Given the description of an element on the screen output the (x, y) to click on. 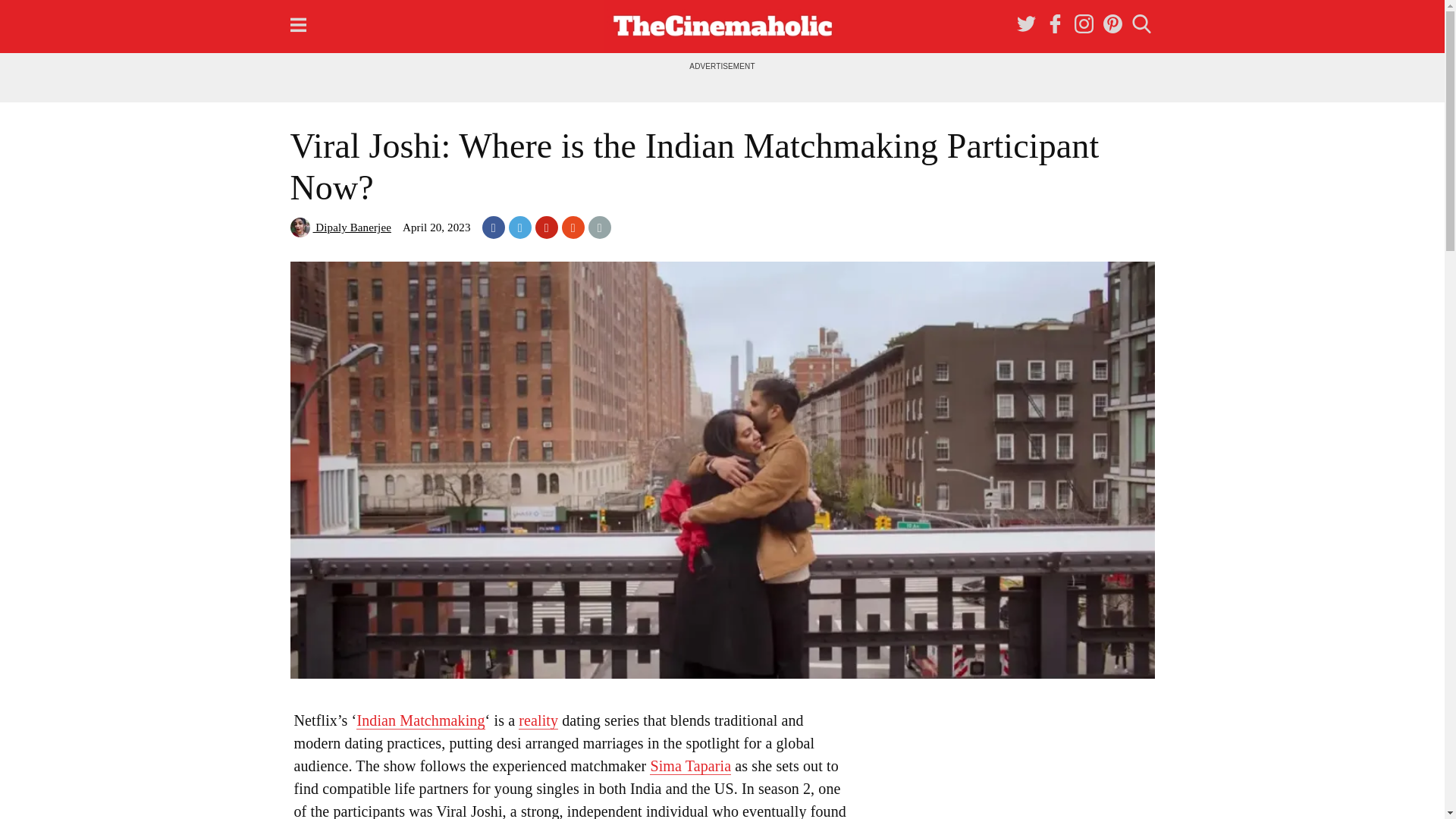
Sima Taparia (689, 765)
Dipaly Banerjee (339, 227)
Indian Matchmaking (420, 720)
reality (537, 720)
